Given the description of an element on the screen output the (x, y) to click on. 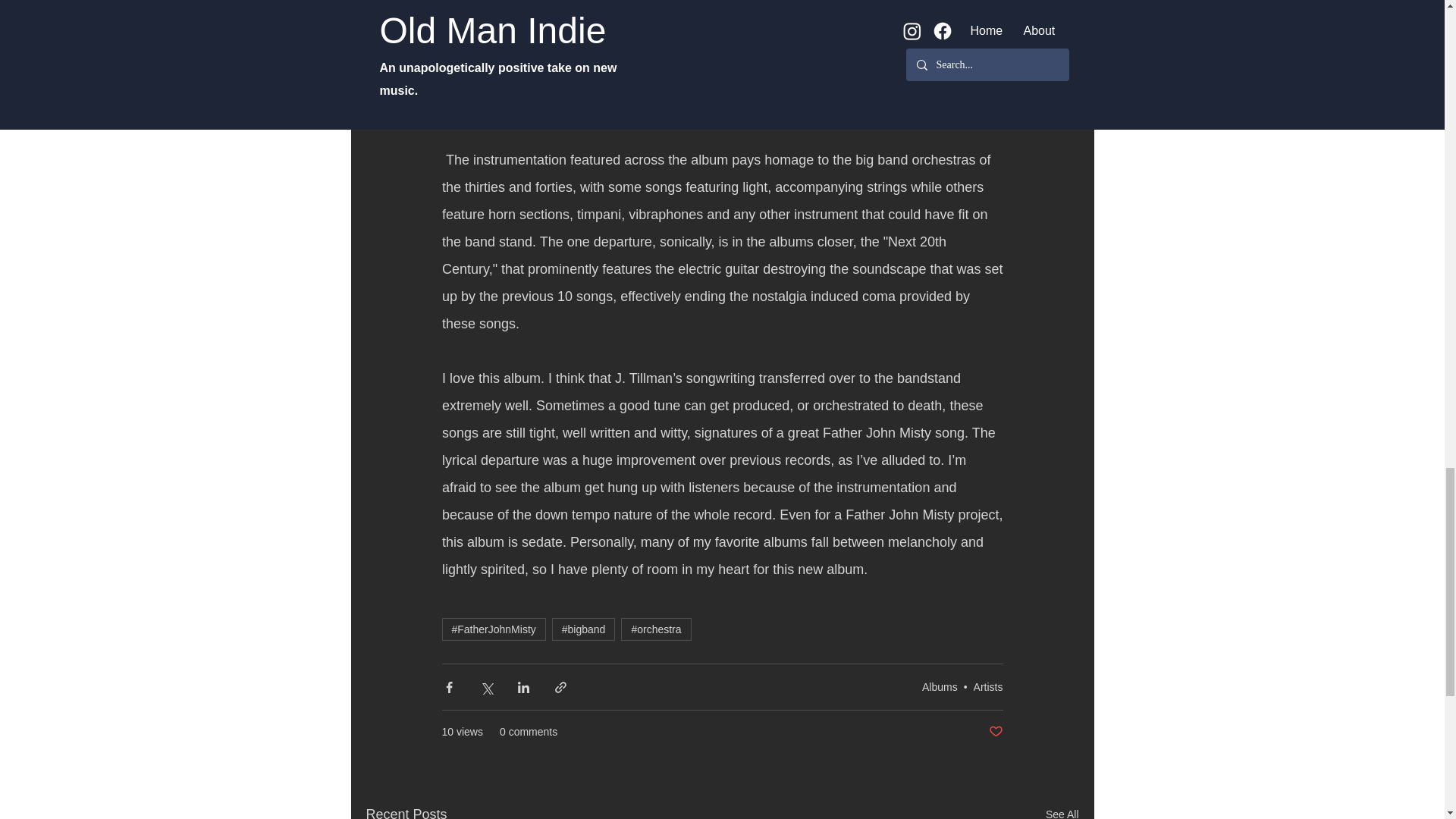
Artists (988, 686)
See All (1061, 811)
Post not marked as liked (995, 731)
Albums (939, 686)
